Given the description of an element on the screen output the (x, y) to click on. 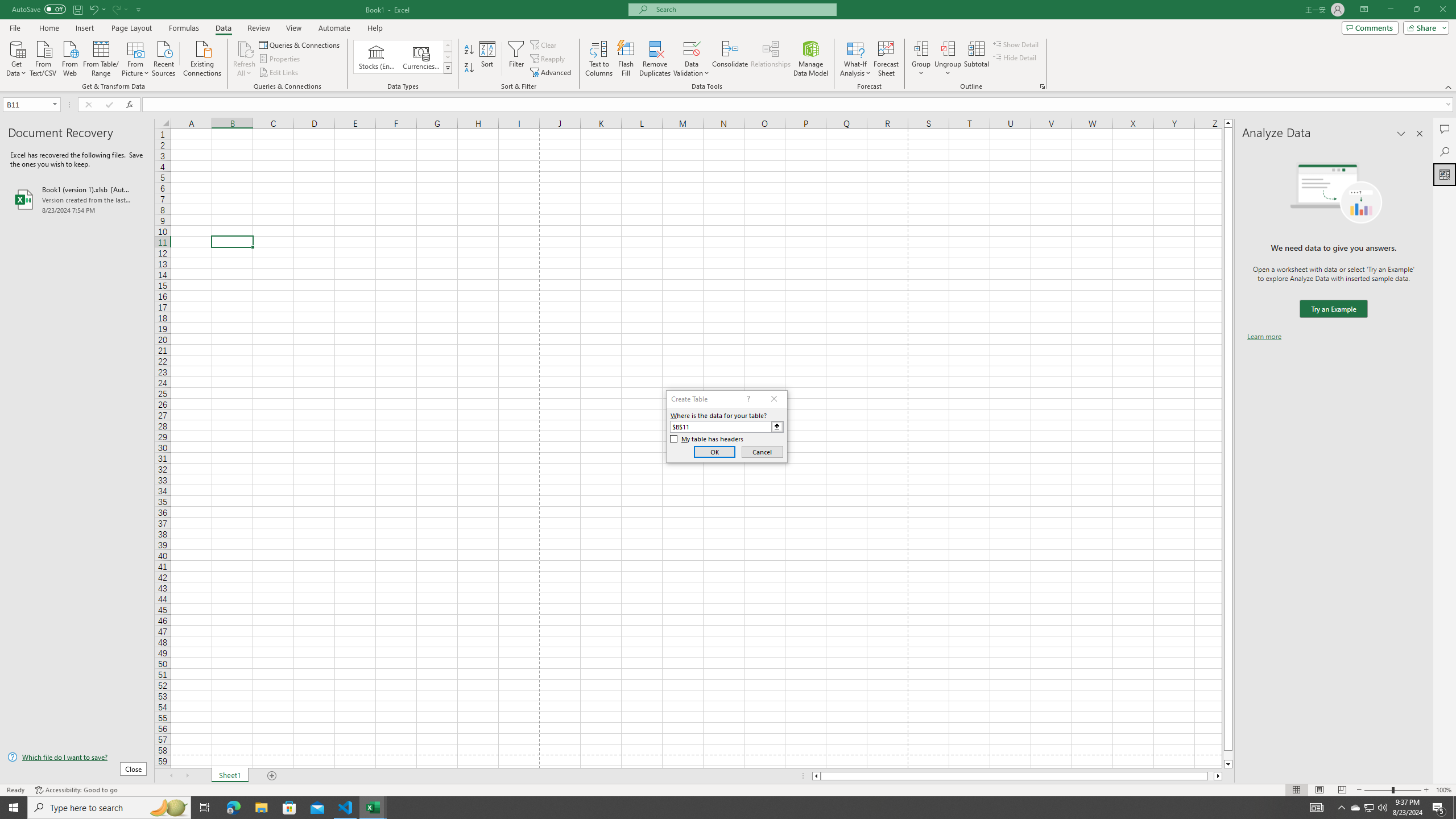
Edit Links (279, 72)
Class: NetUIImage (447, 68)
